Given the description of an element on the screen output the (x, y) to click on. 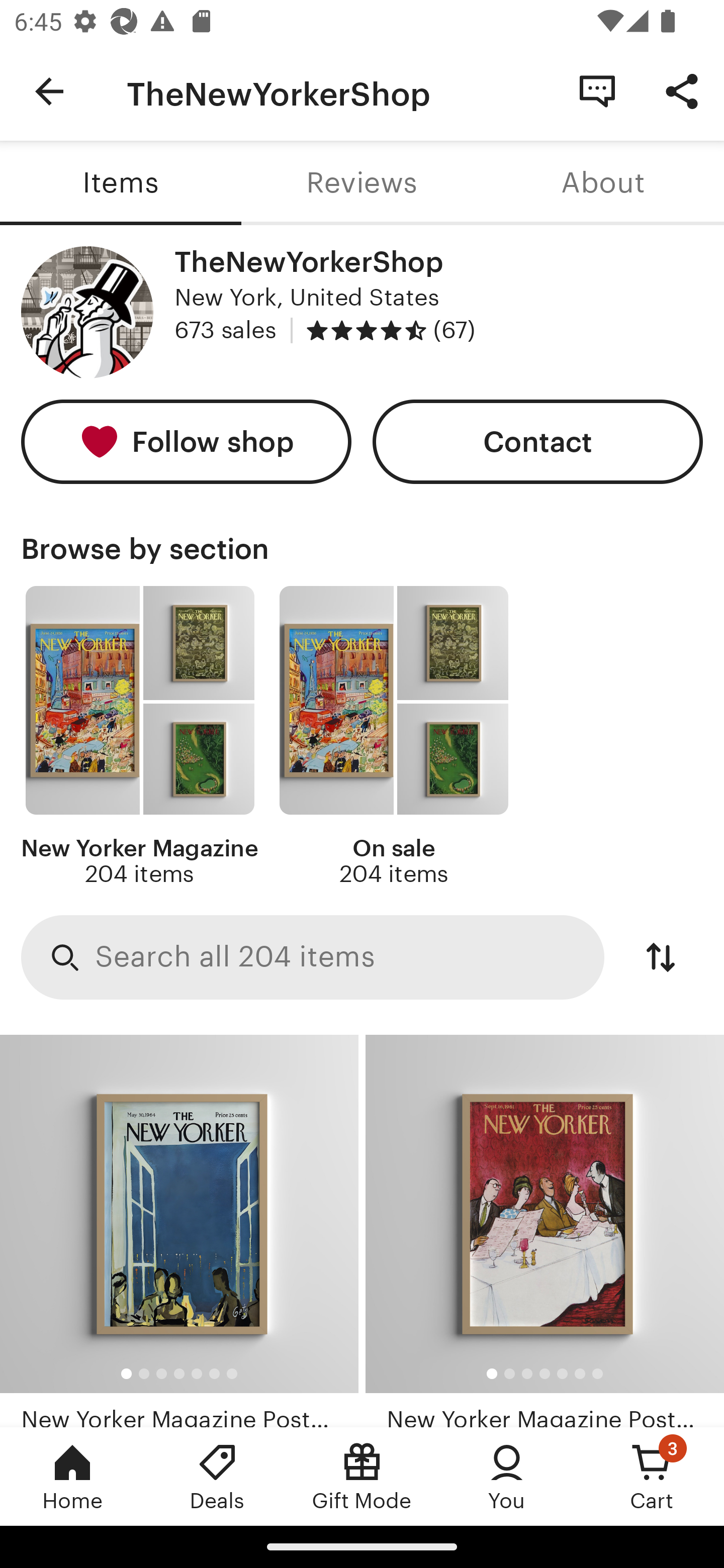
Navigate up (49, 91)
Contact Shop (597, 90)
Share (681, 90)
Reviews (361, 183)
About (603, 183)
Follow shop (185, 441)
Contact (537, 441)
New Yorker Magazine 204 items (139, 736)
On sale 204 items (393, 736)
Search Search all 204 items (312, 957)
Deals (216, 1475)
Gift Mode (361, 1475)
You (506, 1475)
Cart, 3 new notifications Cart (651, 1475)
